Given the description of an element on the screen output the (x, y) to click on. 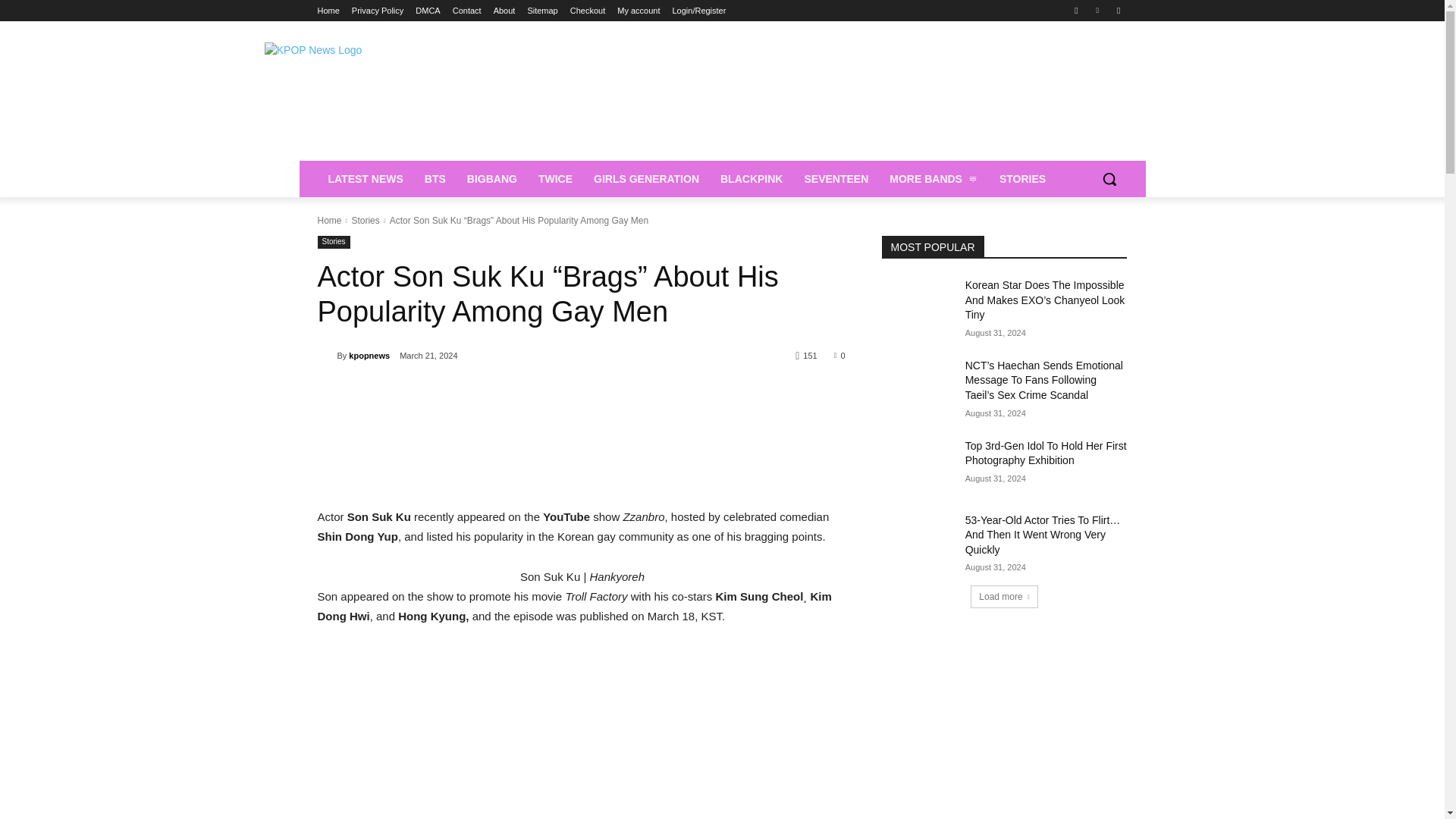
TWICE (555, 178)
Contact (466, 10)
Sitemap (542, 10)
Home (328, 10)
View all posts in Stories (364, 220)
Privacy Policy (377, 10)
KPOP News Logo (438, 97)
Checkout (587, 10)
BTS (435, 178)
LATEST NEWS (365, 178)
